Given the description of an element on the screen output the (x, y) to click on. 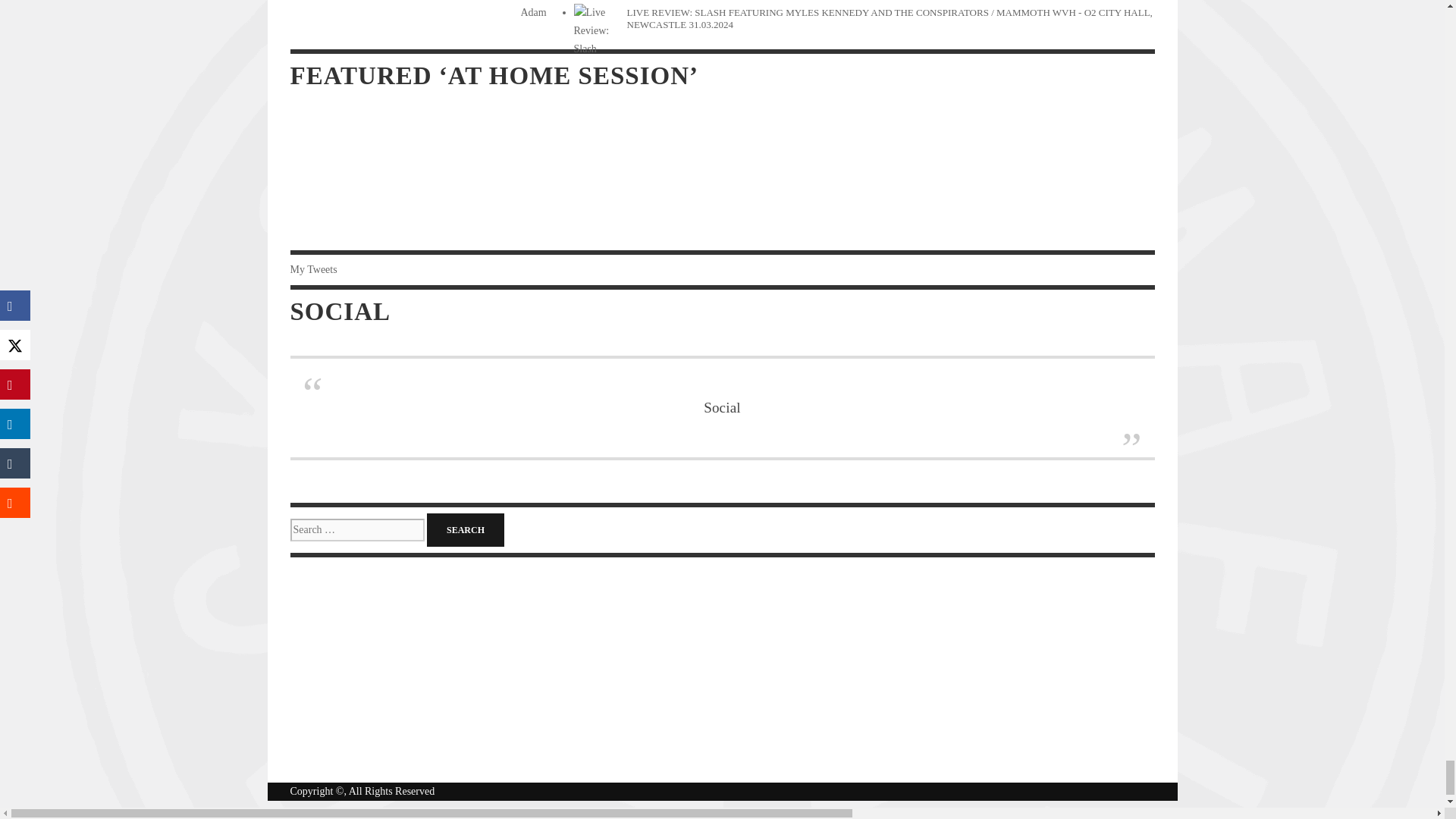
Search (464, 530)
Search (464, 530)
